Given the description of an element on the screen output the (x, y) to click on. 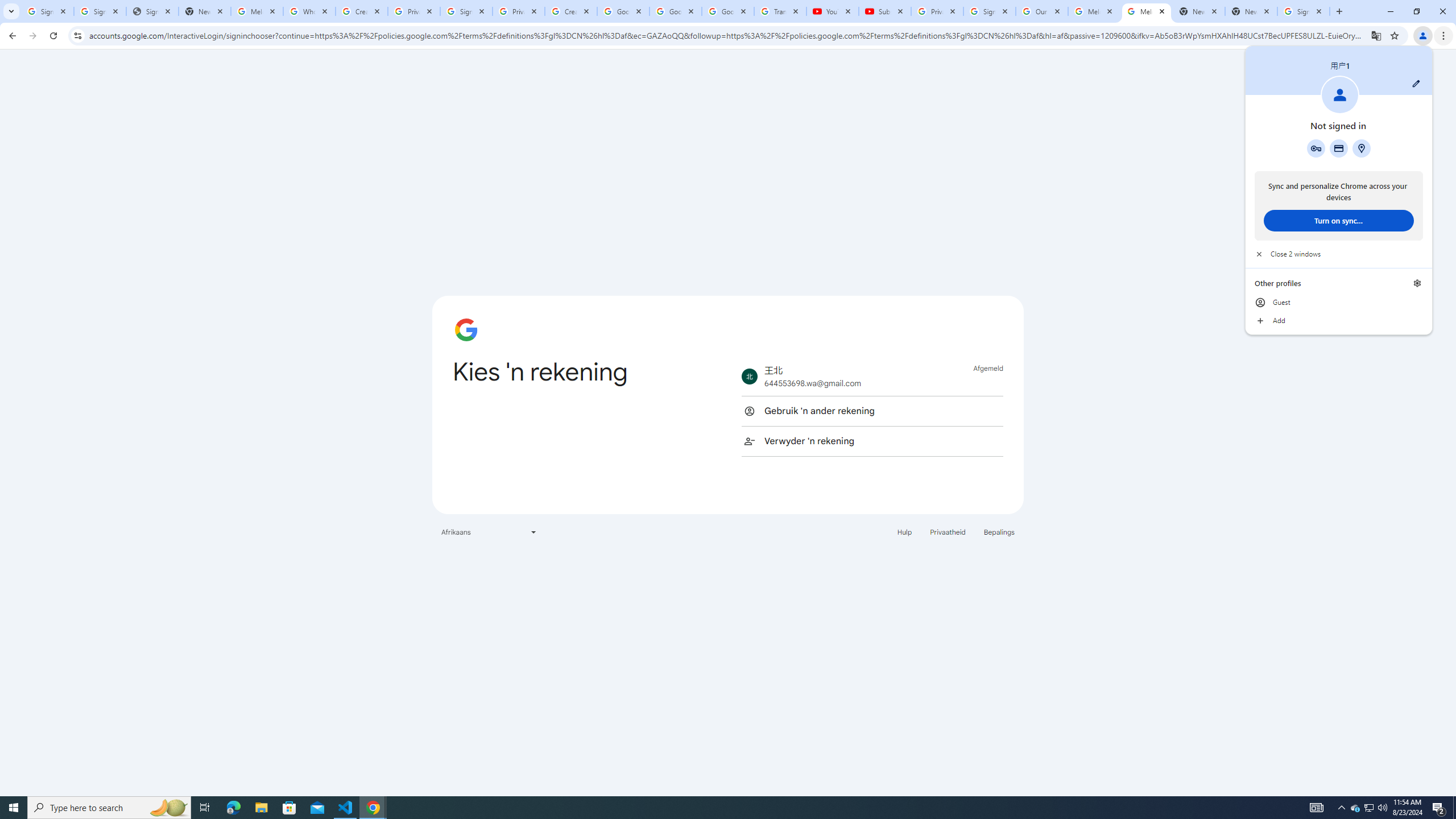
Microsoft Store (289, 807)
Q2790: 100% (1382, 807)
Who is my administrator? - Google Account Help (309, 11)
Create your Google Account (361, 11)
Bepalings (999, 531)
Sign in - Google Accounts (47, 11)
Guest (1338, 302)
Notification Chevron (1341, 807)
